Given the description of an element on the screen output the (x, y) to click on. 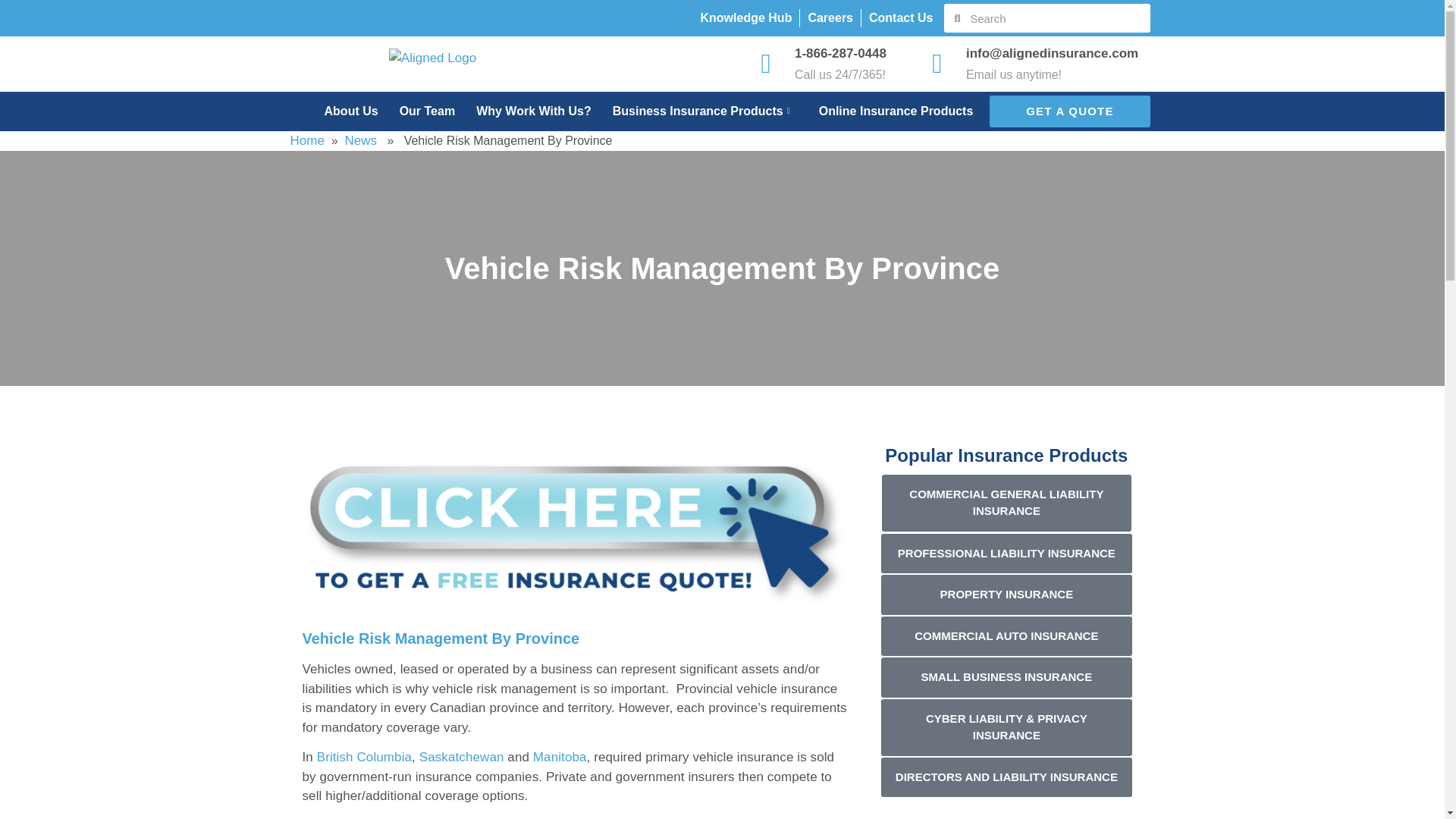
About Us (340, 110)
British Columbia (364, 757)
Saskatchewan (461, 757)
GET A QUOTE (1070, 111)
Contact Us (901, 18)
News (361, 140)
Careers (830, 18)
1-866-287-0448 (840, 52)
Online Insurance Products (885, 110)
Our Team (416, 110)
